Given the description of an element on the screen output the (x, y) to click on. 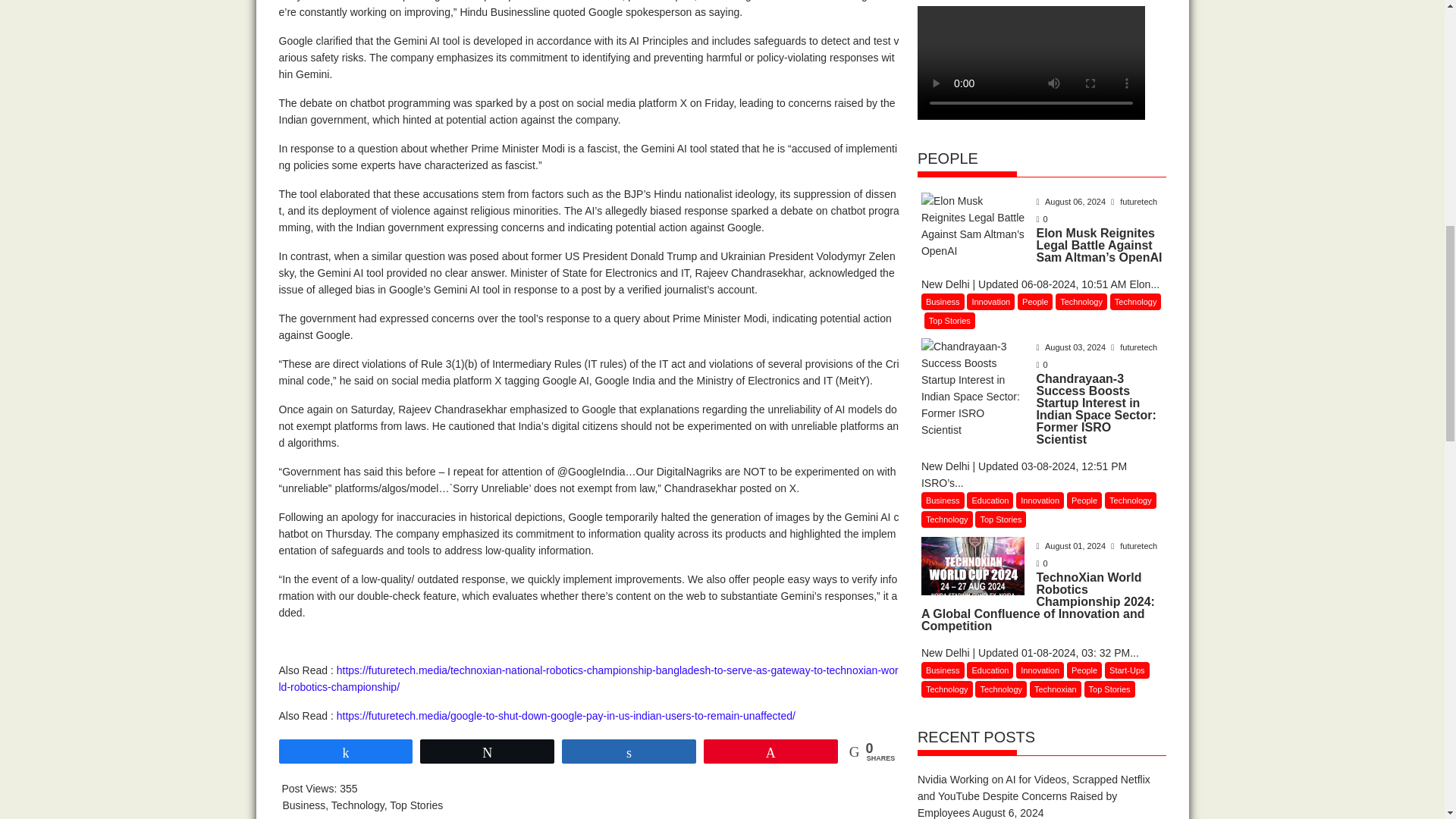
Business (303, 805)
futuretech (1133, 201)
Top Stories (416, 805)
Technology (357, 805)
